Given the description of an element on the screen output the (x, y) to click on. 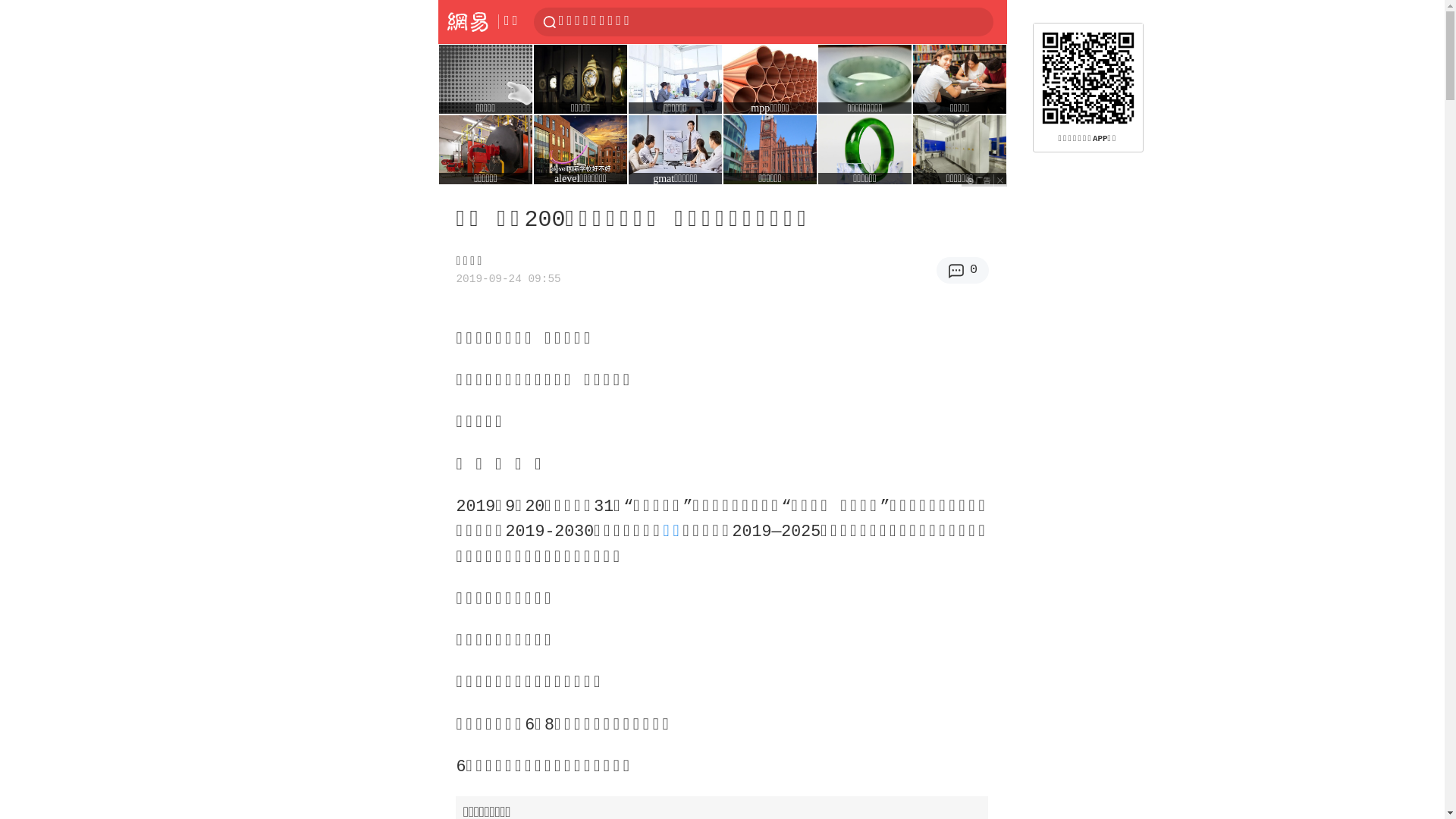
0 Element type: text (962, 270)
